Given the description of an element on the screen output the (x, y) to click on. 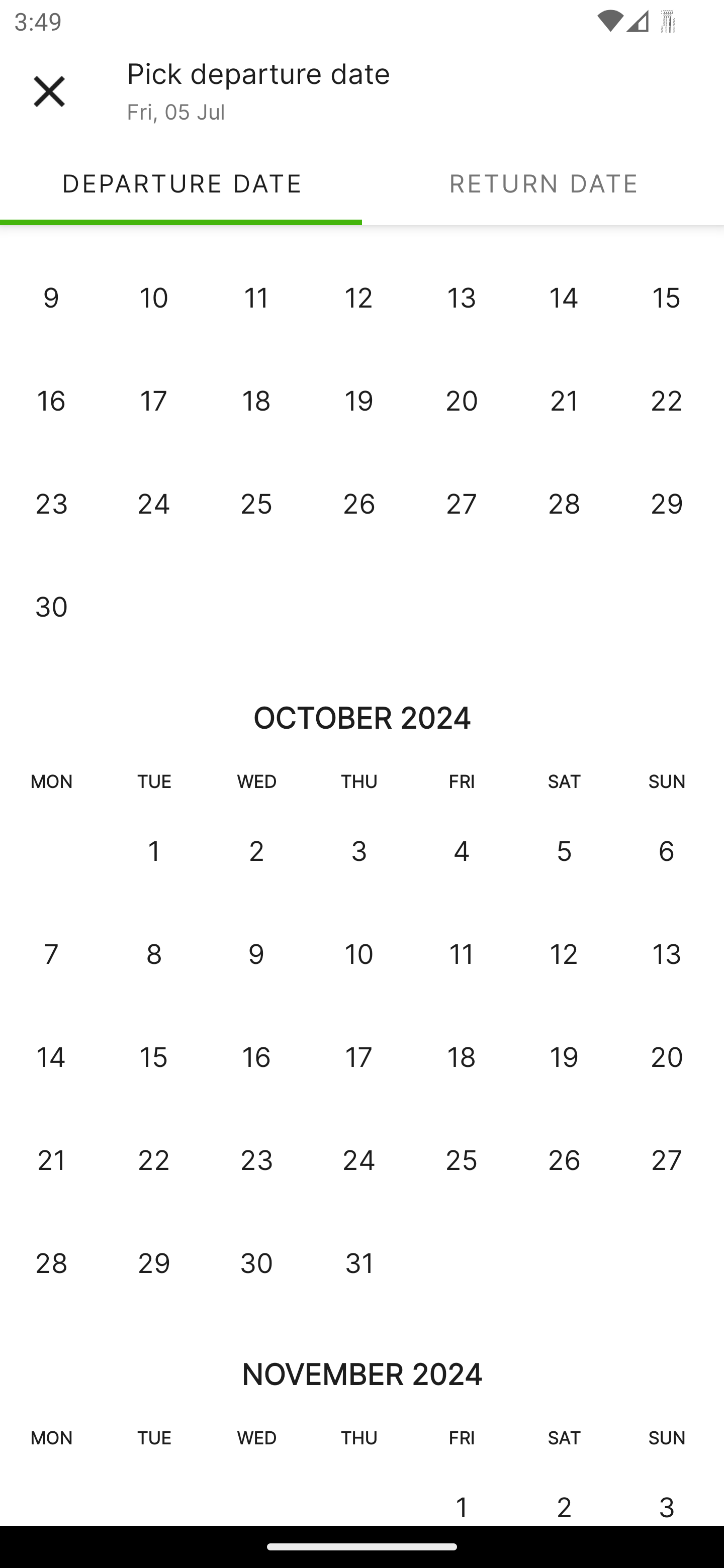
Return Date RETURN DATE (543, 183)
